Given the description of an element on the screen output the (x, y) to click on. 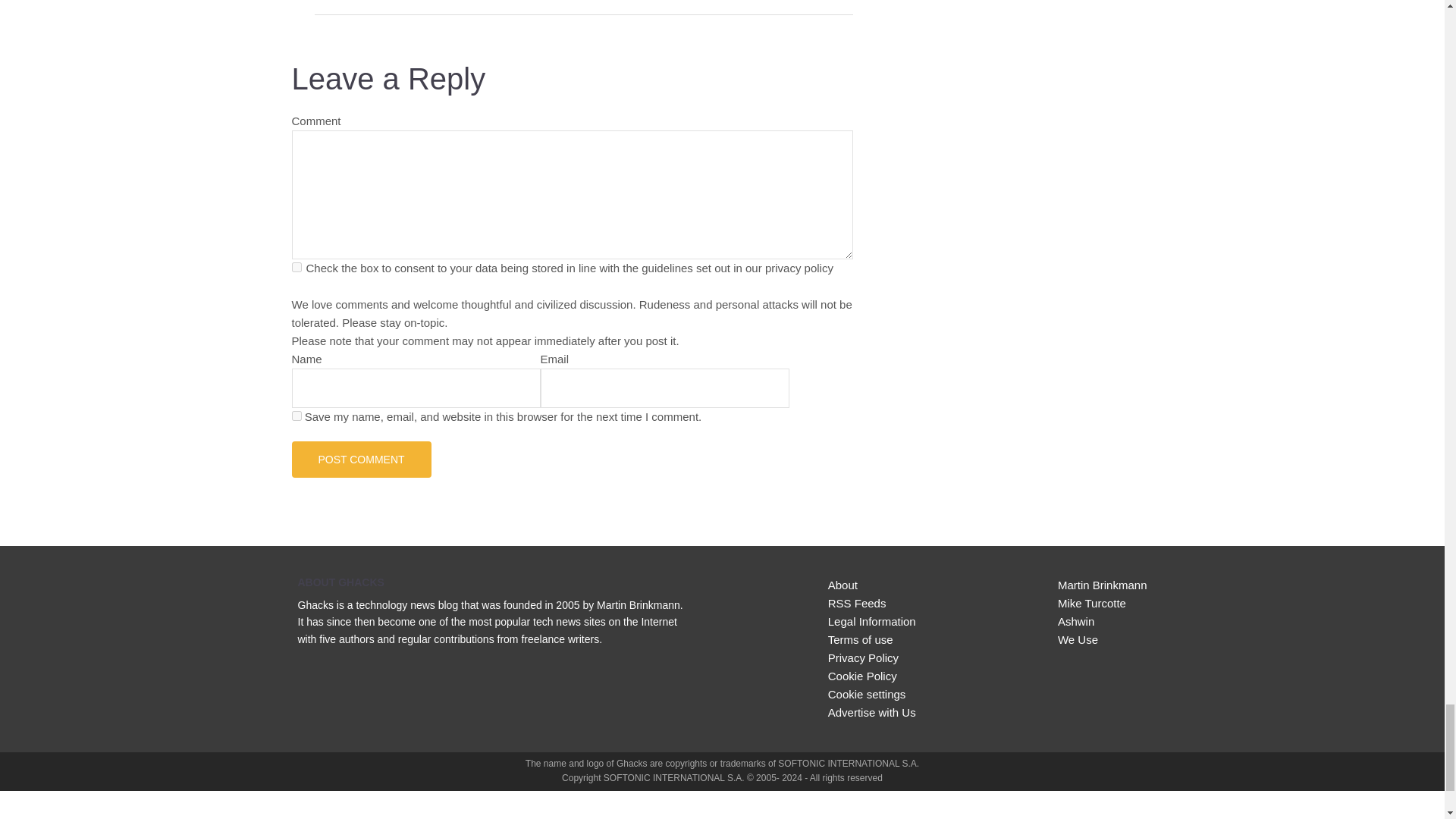
privacy-key (296, 266)
Post Comment (360, 459)
yes (296, 415)
